Given the description of an element on the screen output the (x, y) to click on. 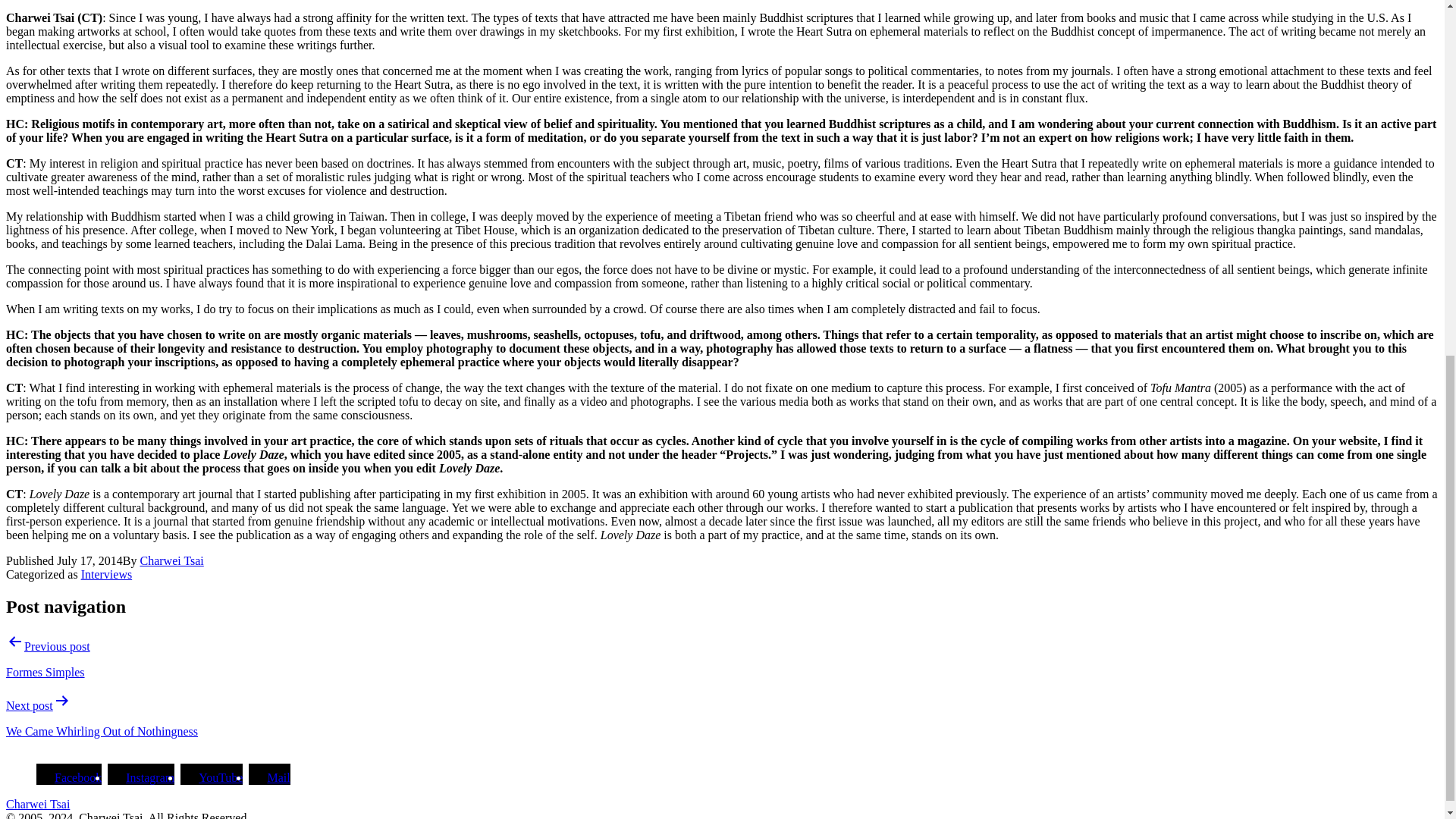
Interviews (106, 574)
Charwei Tsai (171, 560)
Facebook (68, 777)
Instagram (140, 777)
Mail (268, 777)
YouTube (211, 777)
